Given the description of an element on the screen output the (x, y) to click on. 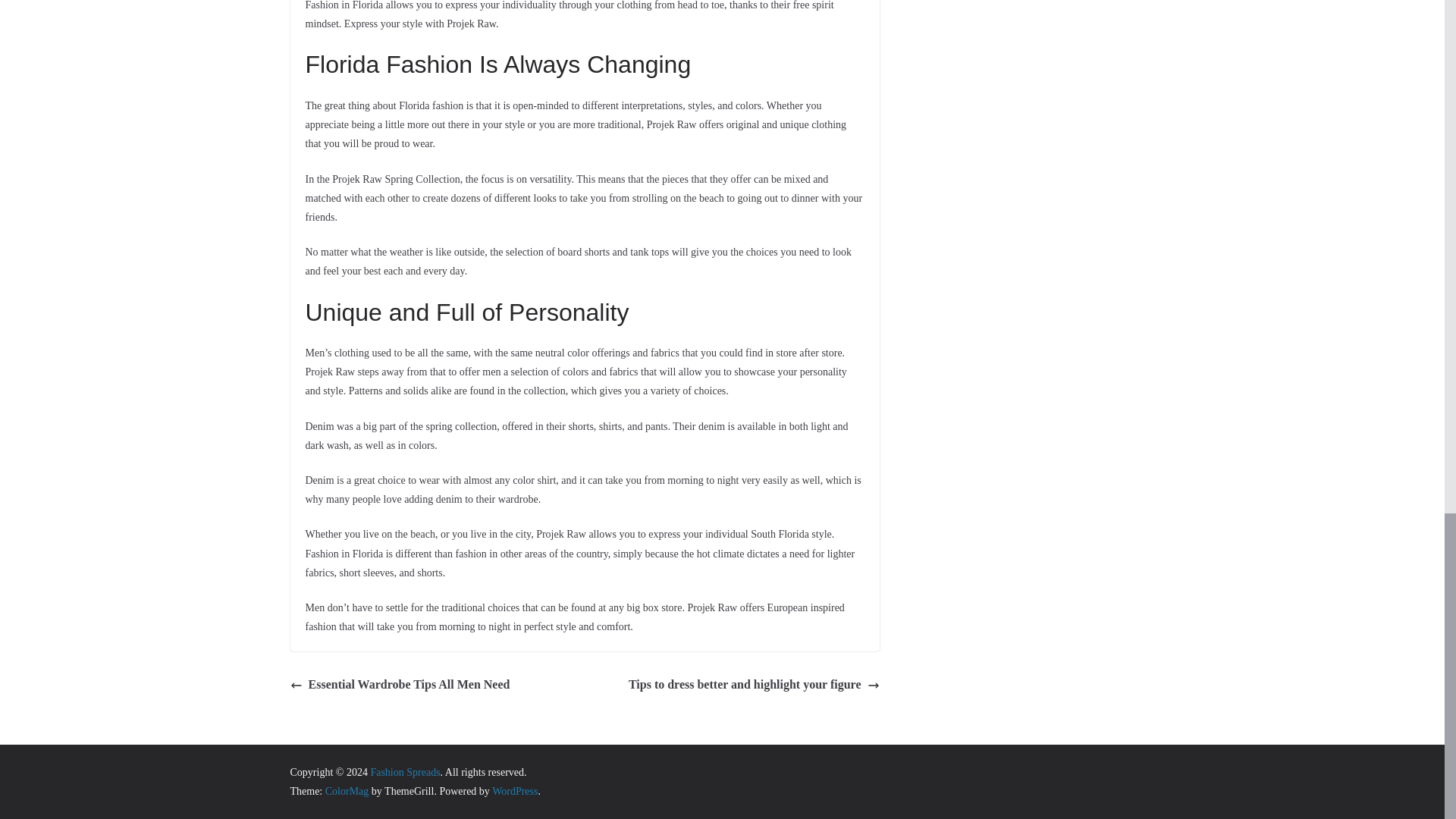
WordPress (514, 790)
ColorMag (346, 790)
Essential Wardrobe Tips All Men Need (399, 685)
Tips to dress better and highlight your figure (753, 685)
Fashion Spreads (404, 772)
